Given the description of an element on the screen output the (x, y) to click on. 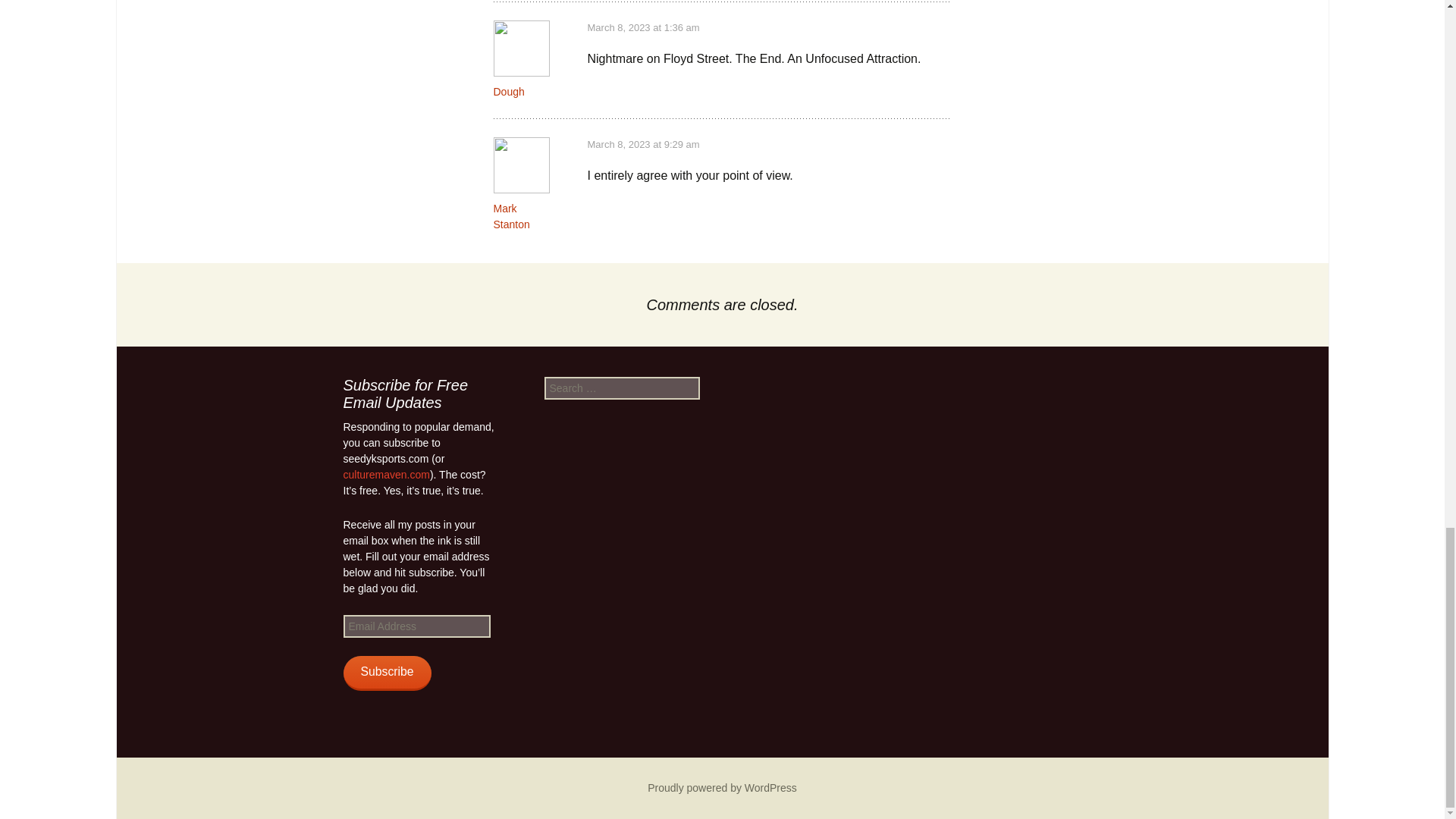
Proudly powered by WordPress (721, 787)
March 8, 2023 at 1:36 am (642, 27)
Mark Stanton (511, 216)
culturemaven.com (385, 474)
Subscribe (386, 673)
March 8, 2023 at 9:29 am (642, 143)
